Given the description of an element on the screen output the (x, y) to click on. 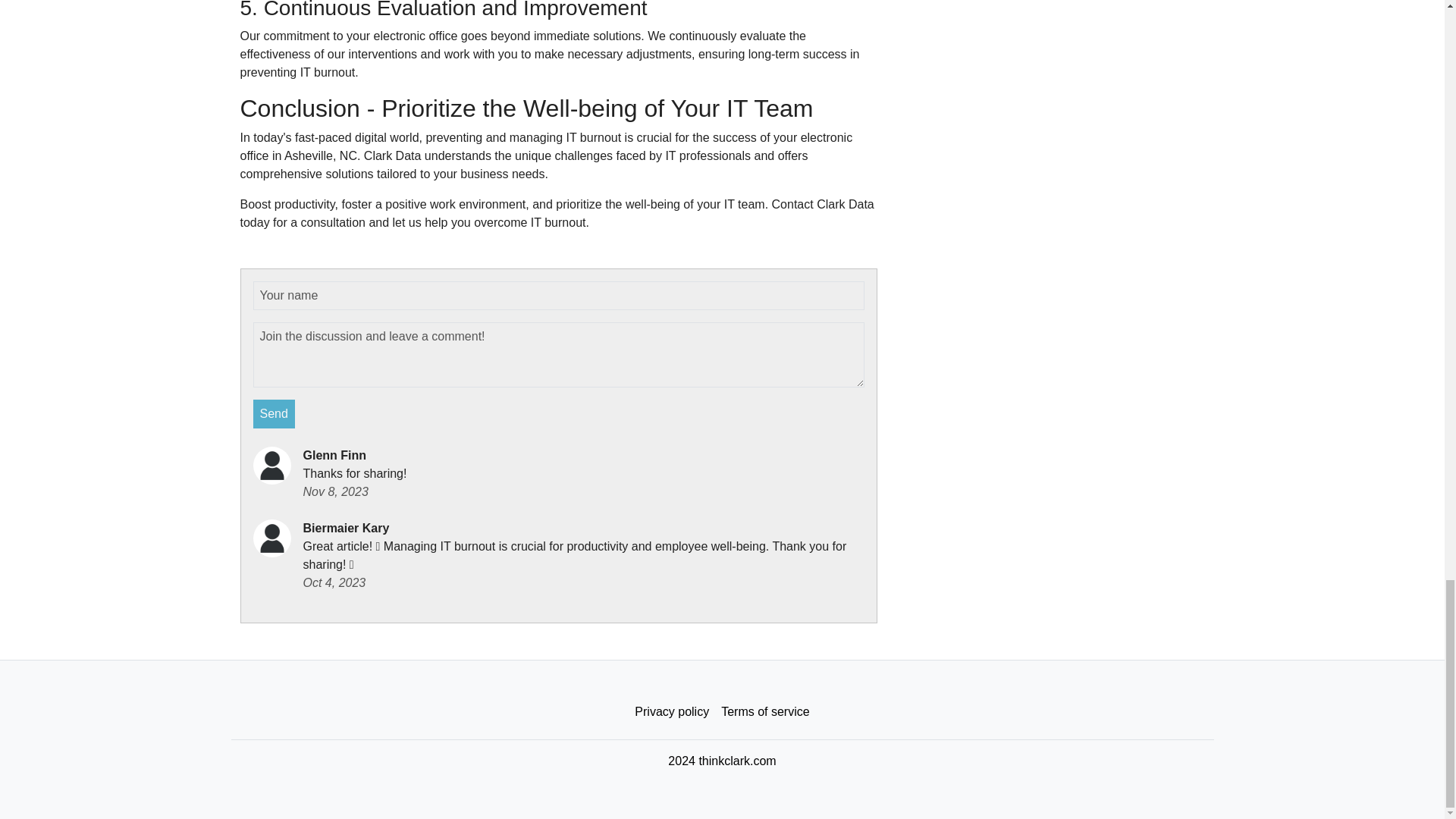
Send (274, 413)
Privacy policy (671, 711)
Send (274, 413)
Terms of service (764, 711)
